Given the description of an element on the screen output the (x, y) to click on. 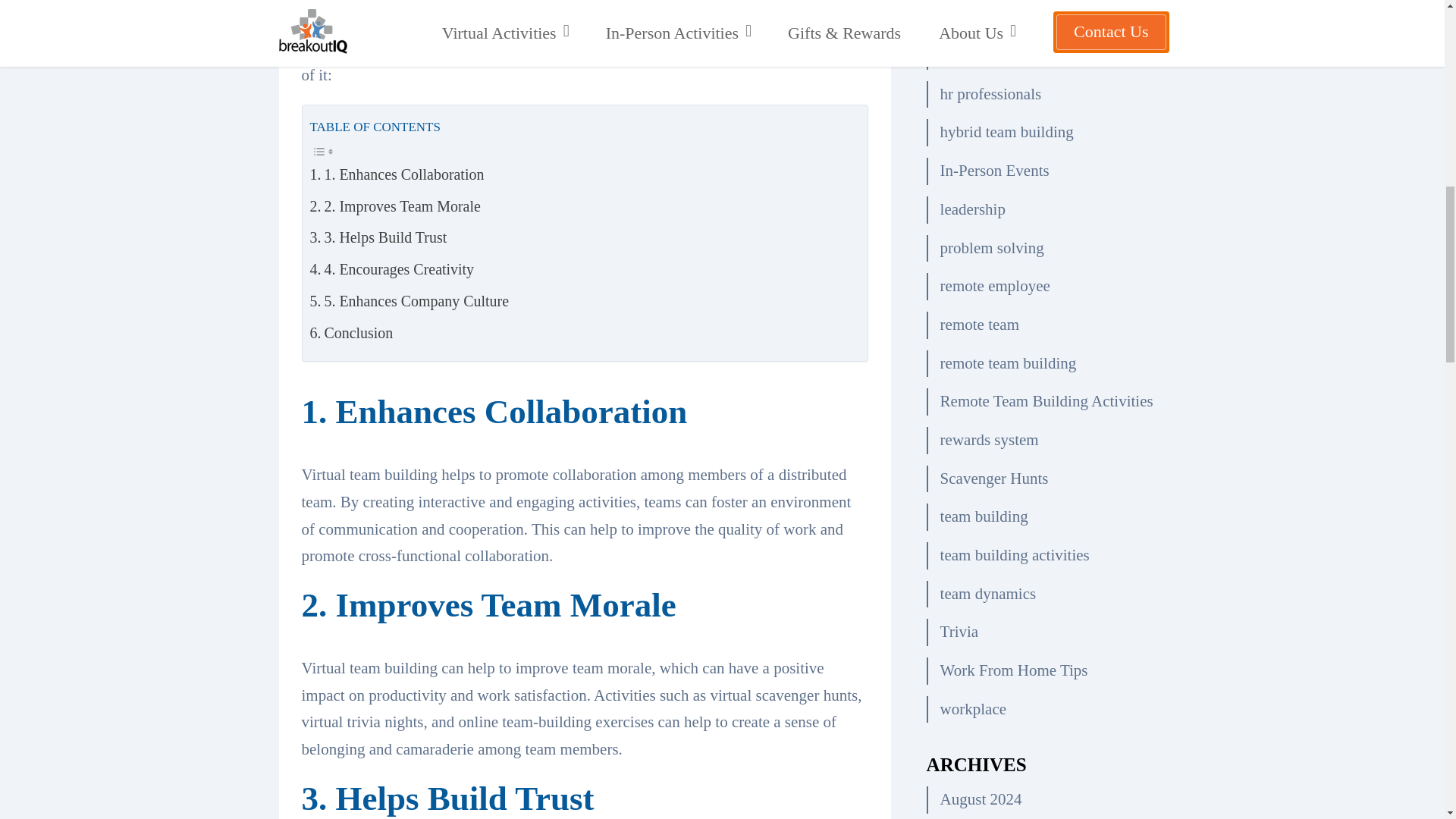
3. Helps Build Trust (377, 238)
5. Enhances Company Culture (408, 301)
2. Improves Team Morale (394, 206)
Conclusion (350, 333)
Conclusion (350, 333)
2. Improves Team Morale (394, 206)
4. Encourages Creativity (391, 269)
4. Encourages Creativity (391, 269)
3. Helps Build Trust (377, 238)
5. Enhances Company Culture (408, 301)
